Given the description of an element on the screen output the (x, y) to click on. 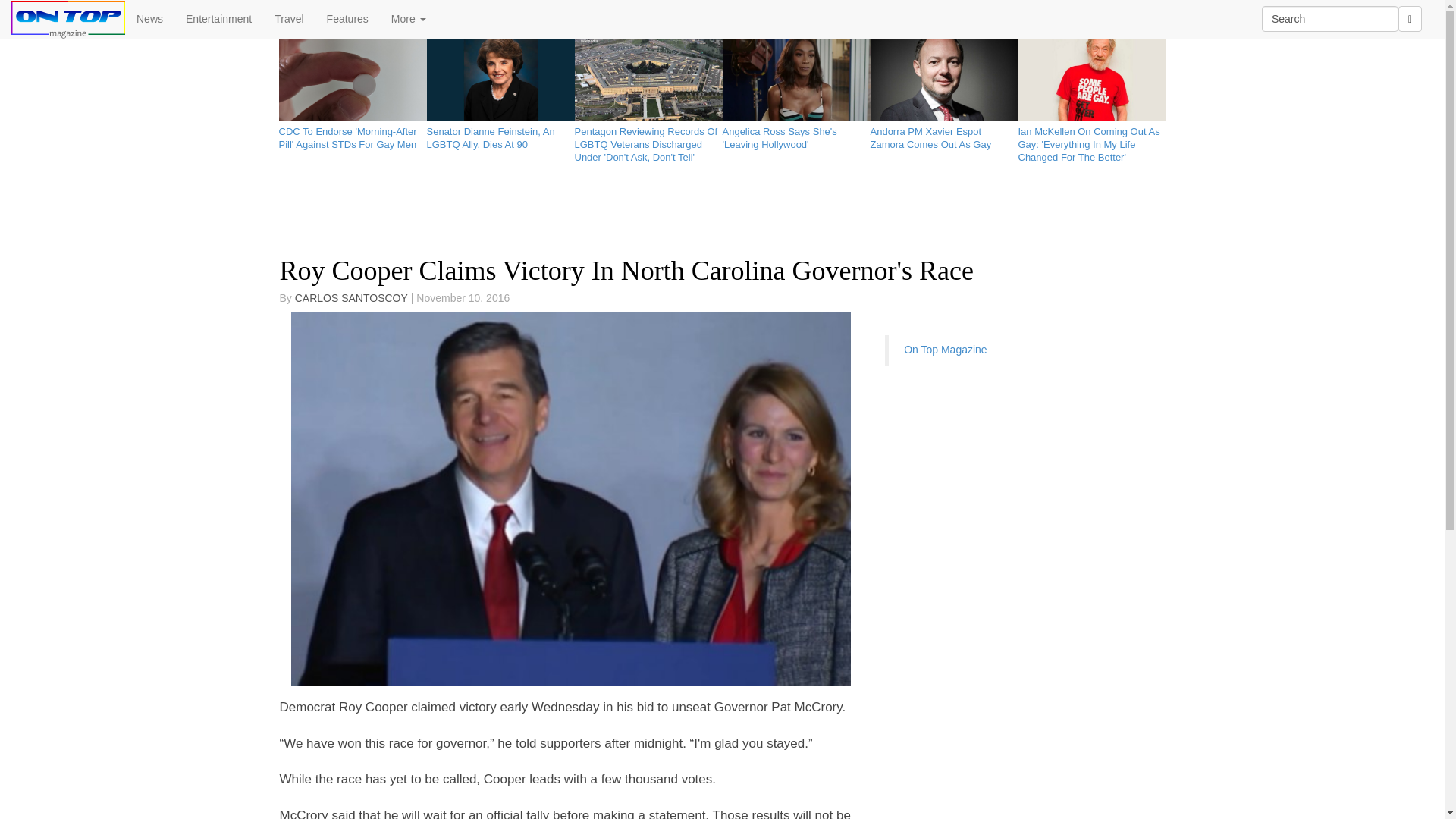
Andorra PM Xavier Espot Zamora Comes Out As Gay (943, 135)
Entertainment (218, 18)
News (149, 18)
Travel (288, 18)
Search by keyword (1329, 18)
Features (347, 18)
CDC To Endorse 'Morning-After Pill' Against STDs For Gay Men (352, 135)
More (409, 18)
Search (1329, 18)
